Given the description of an element on the screen output the (x, y) to click on. 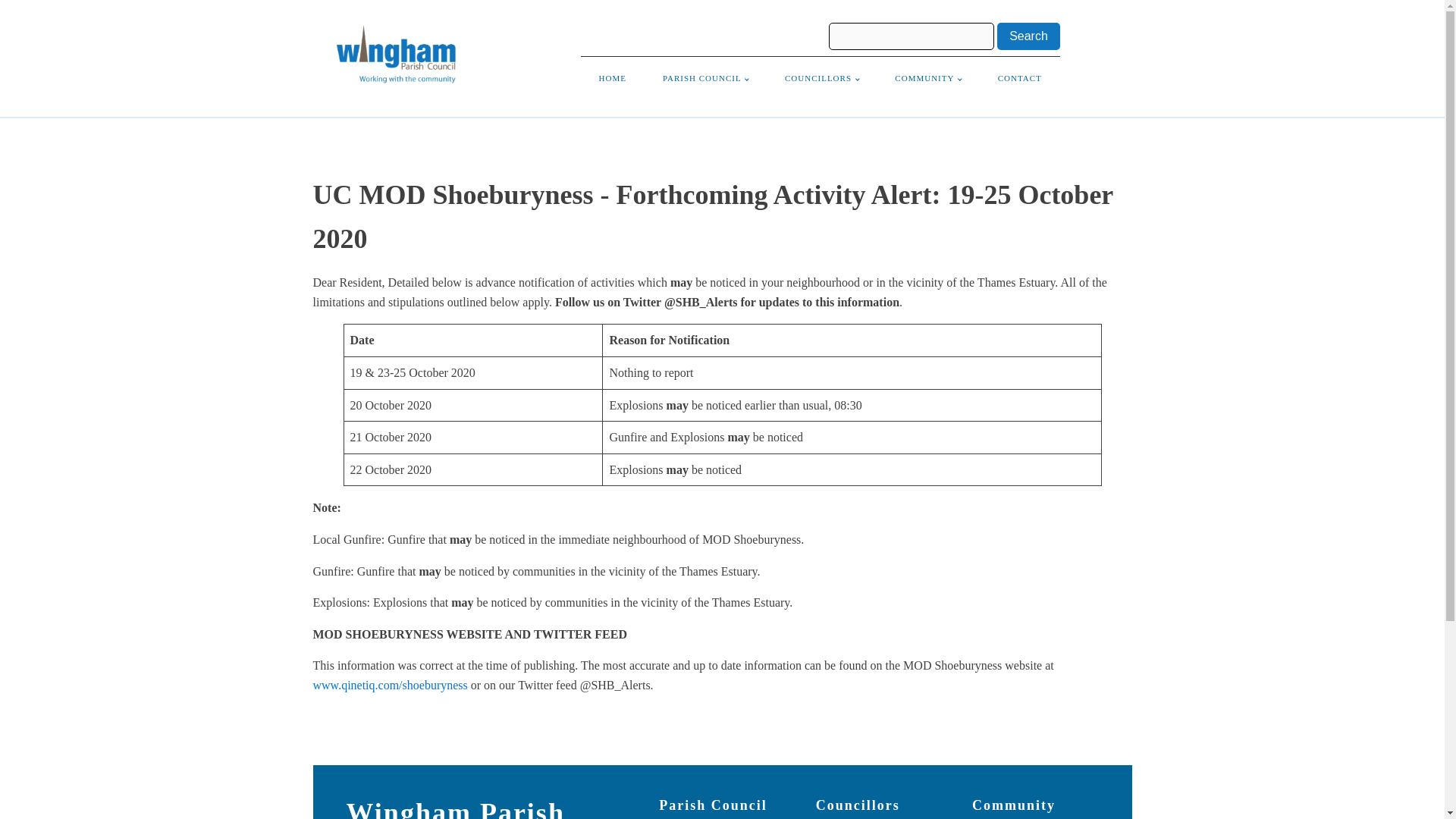
COUNCILLORS (821, 79)
COMMUNITY (927, 79)
CONTACT (1019, 79)
Search (1028, 35)
PARISH COUNCIL (706, 79)
Search (1028, 35)
HOME (612, 79)
